Given the description of an element on the screen output the (x, y) to click on. 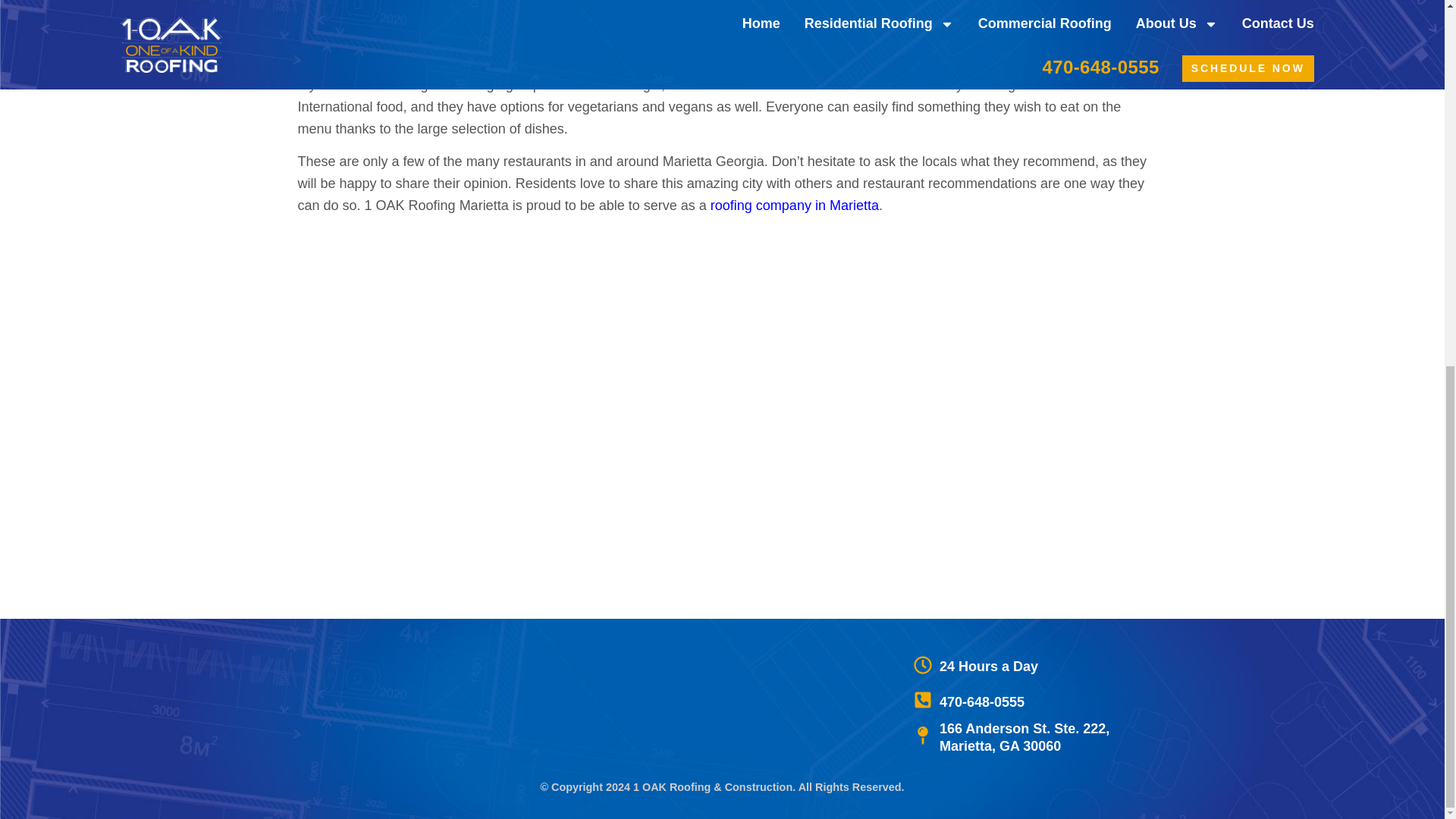
1OAK-Roofing-White-250 (410, 703)
